Given the description of an element on the screen output the (x, y) to click on. 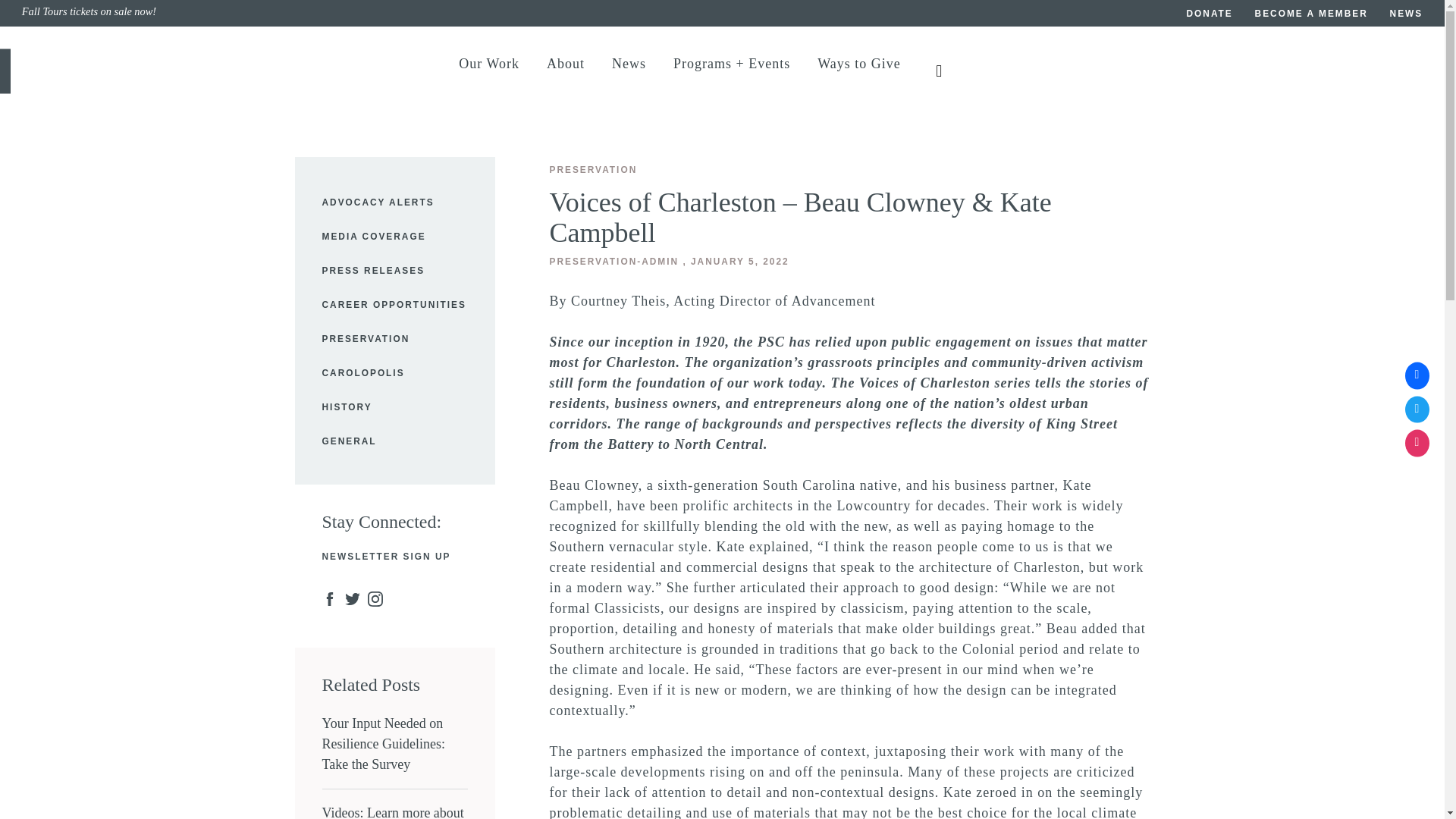
About (566, 71)
Connect with us on Facebook (1417, 375)
Follow us on Instagram (1417, 443)
Fall Tours tickets on sale now! (371, 13)
DONATE (1209, 15)
News (628, 71)
NEWS (1406, 15)
BECOME A MEMBER (1311, 15)
Follow us on Twitter (1417, 409)
Our Work (488, 71)
